Given the description of an element on the screen output the (x, y) to click on. 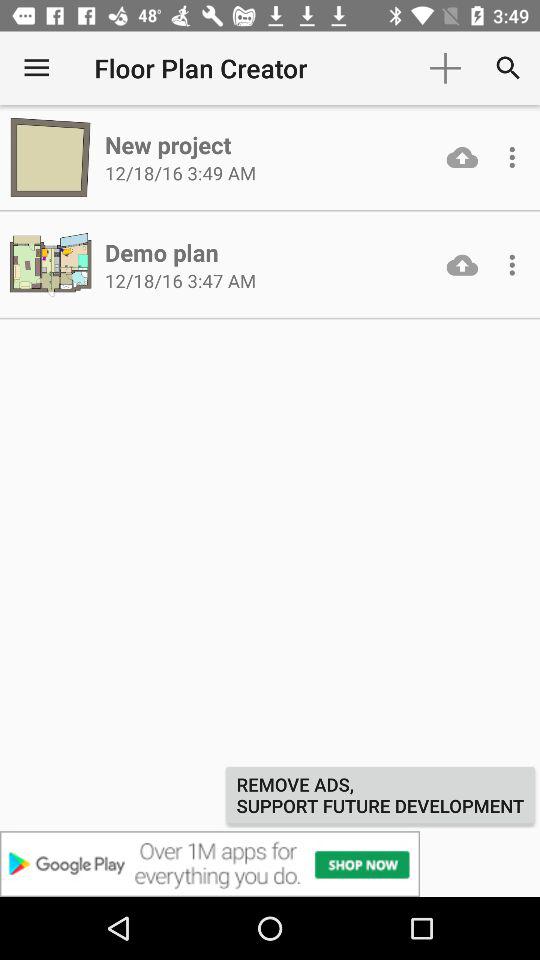
open new project settings (512, 157)
